Given the description of an element on the screen output the (x, y) to click on. 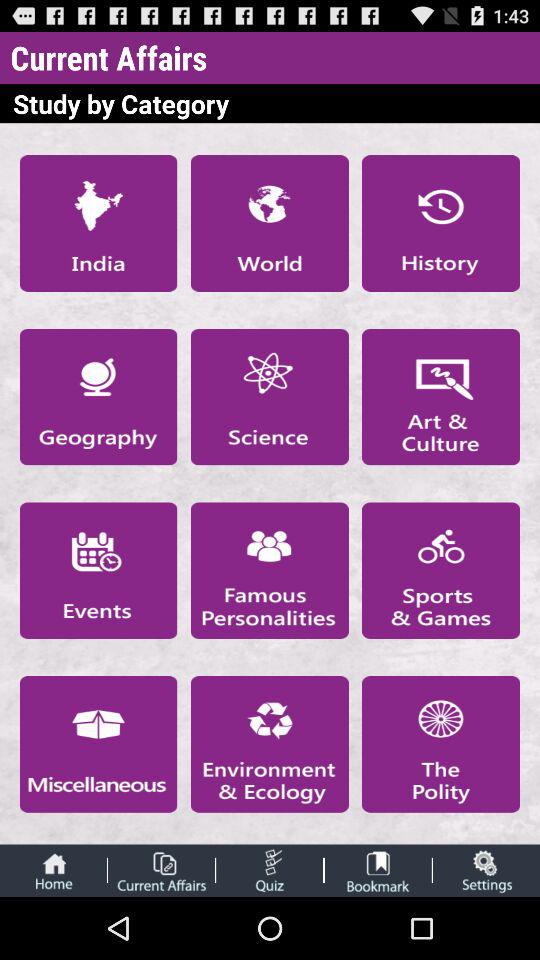
world (269, 223)
